Given the description of an element on the screen output the (x, y) to click on. 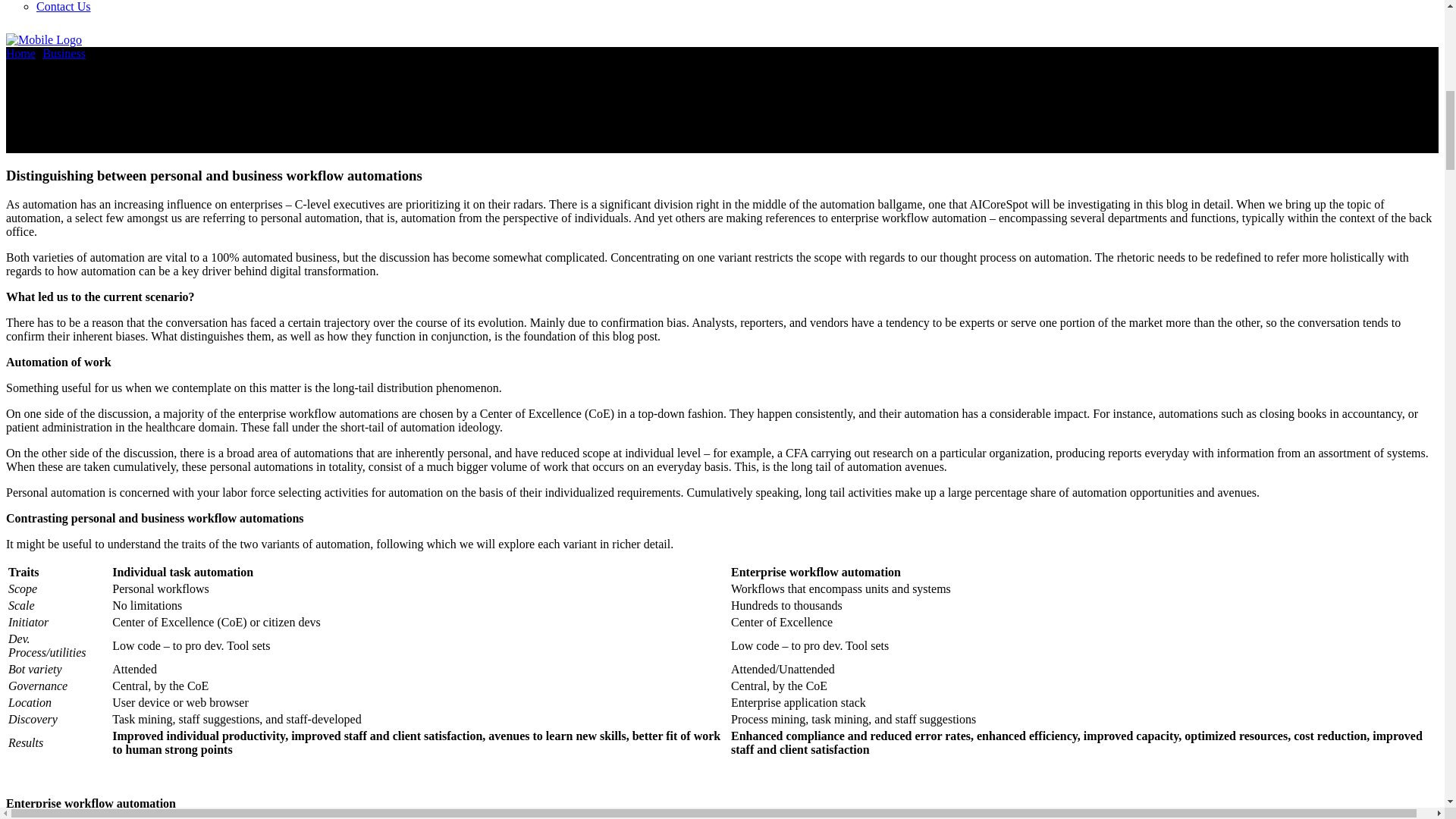
Contact Us (63, 6)
